Given the description of an element on the screen output the (x, y) to click on. 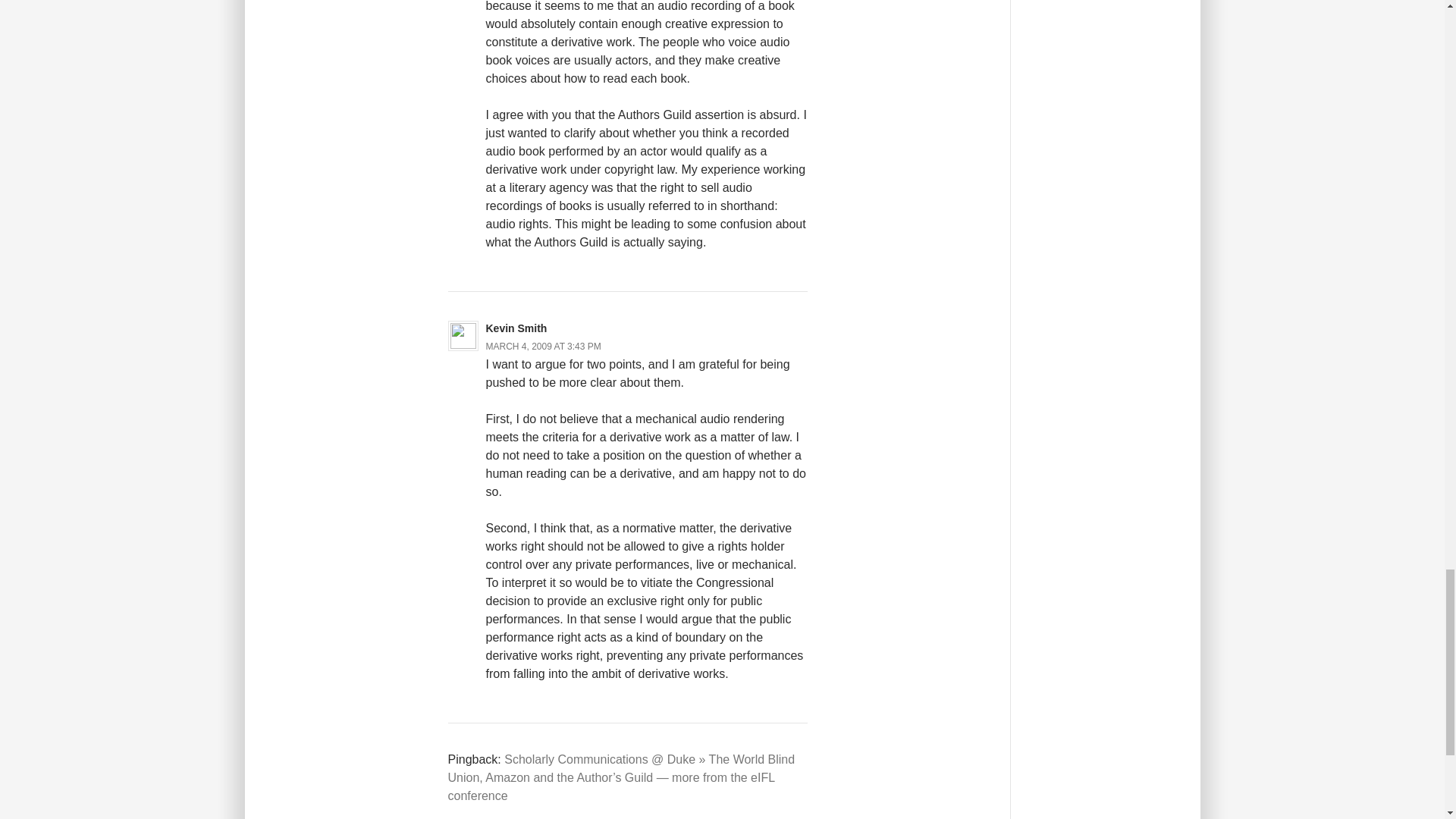
Kevin Smith (515, 328)
MARCH 4, 2009 AT 3:43 PM (541, 346)
